Given the description of an element on the screen output the (x, y) to click on. 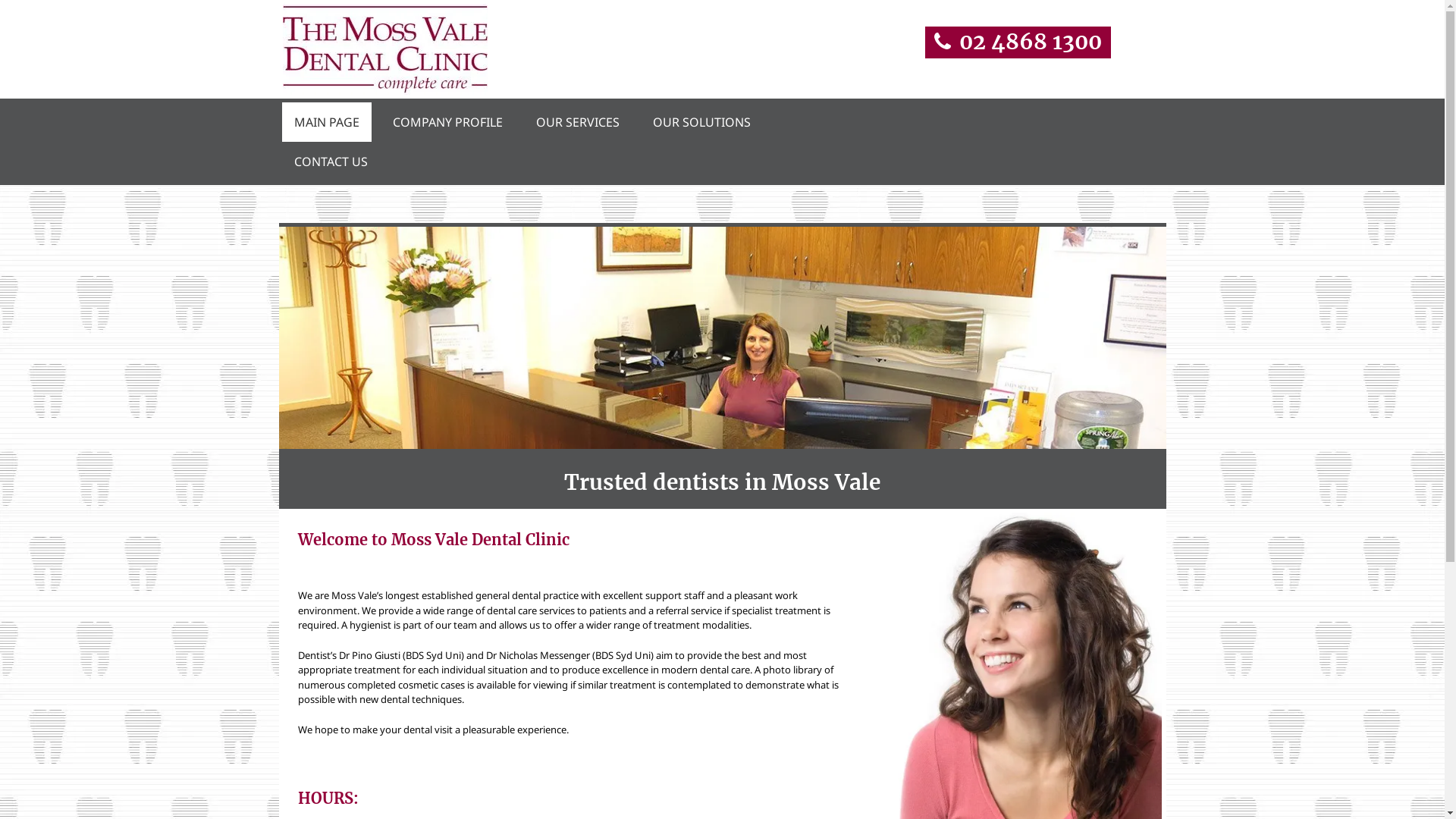
MAIN PAGE Element type: text (326, 121)
CONTACT US Element type: text (330, 161)
OUR SERVICES Element type: text (576, 121)
the moss vale dental clinic logo Element type: hover (384, 48)
COMPANY PROFILE Element type: text (447, 121)
OUR SOLUTIONS Element type: text (701, 121)
